Given the description of an element on the screen output the (x, y) to click on. 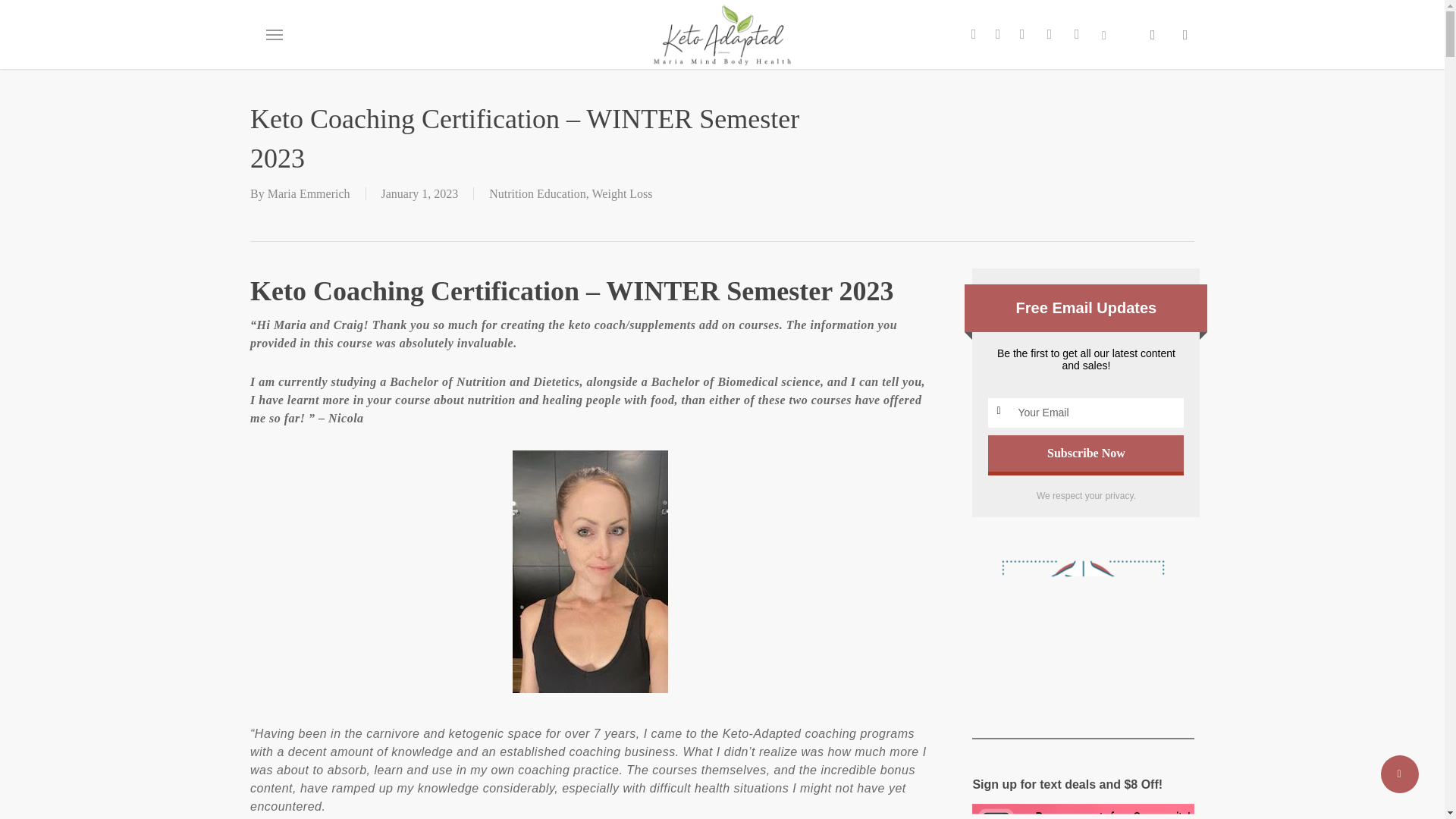
instagram (1076, 33)
youtube (1048, 33)
Menu (273, 34)
account (1184, 34)
facebook (998, 33)
Nutrition Education (537, 193)
Posts by Maria Emmerich (308, 193)
Subscribe Now (1085, 452)
Weight Loss (622, 193)
tiktok (1104, 33)
search (1151, 34)
Subscribe Now (1085, 452)
twitter (973, 33)
Maria Emmerich (308, 193)
pinterest (1022, 33)
